Given the description of an element on the screen output the (x, y) to click on. 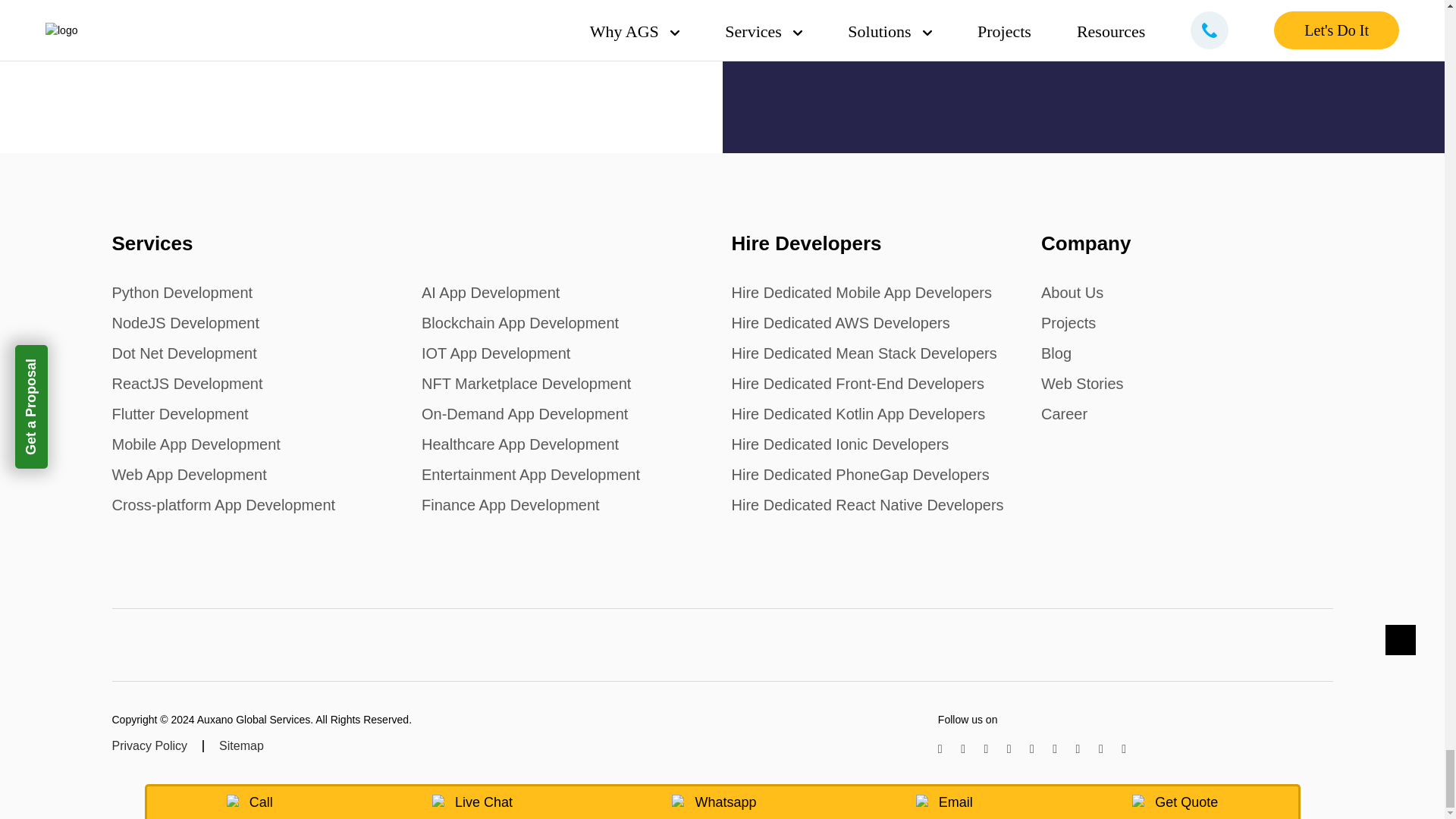
Send (841, 10)
